Given the description of an element on the screen output the (x, y) to click on. 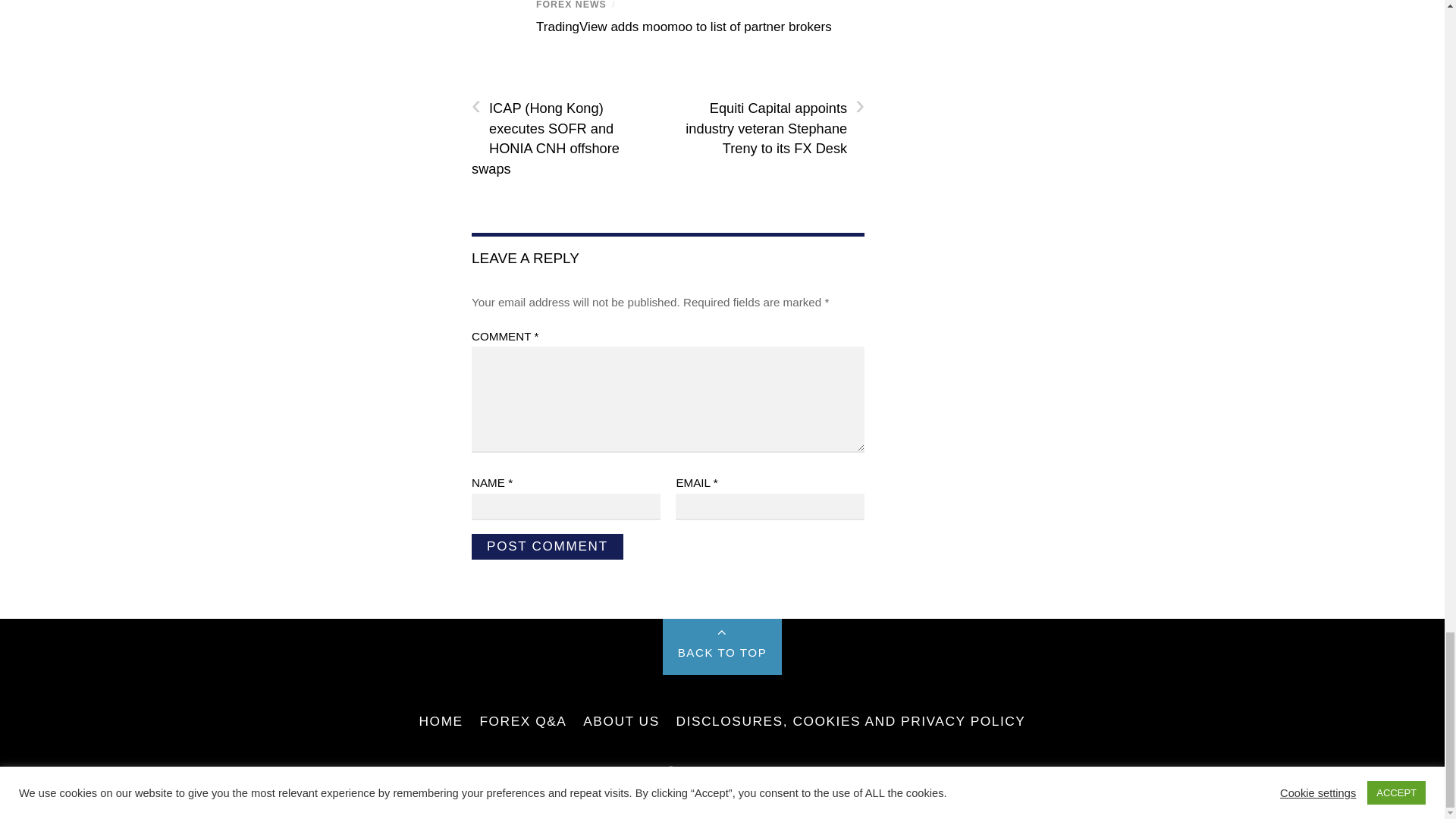
Post Comment (547, 546)
